Given the description of an element on the screen output the (x, y) to click on. 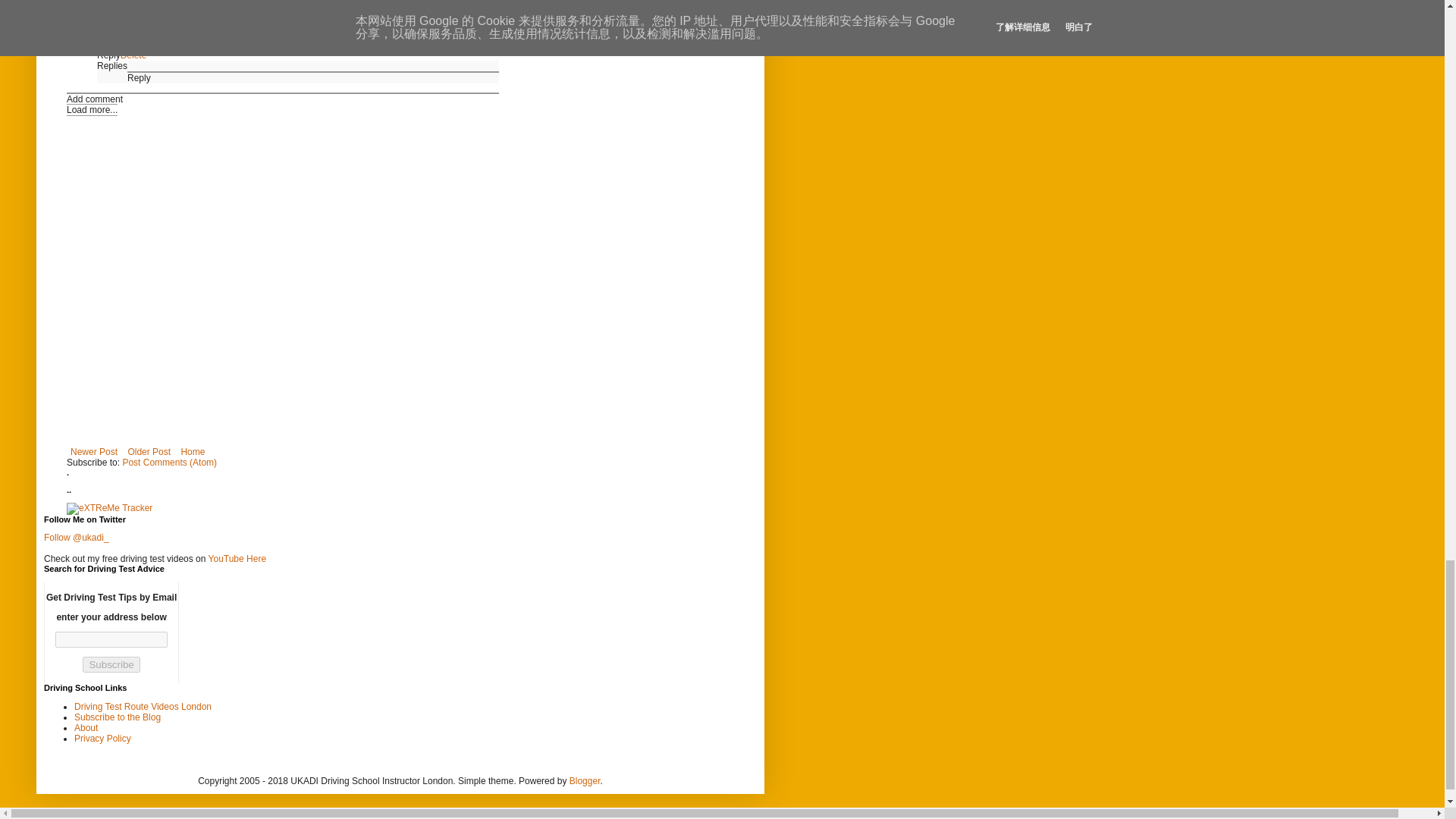
Newer Post (93, 452)
Subscribe to the Blog (117, 716)
Home (192, 452)
Privacy Policy (102, 738)
Newer Post (93, 452)
Delete (133, 54)
Driving Test Route Videos London (142, 706)
YouTube Here (237, 558)
Older Post (148, 452)
Load more... (91, 110)
Add comment (94, 99)
Blogger (584, 780)
1:43 pm (160, 5)
Older Post (148, 452)
mot station (160, 35)
